Given the description of an element on the screen output the (x, y) to click on. 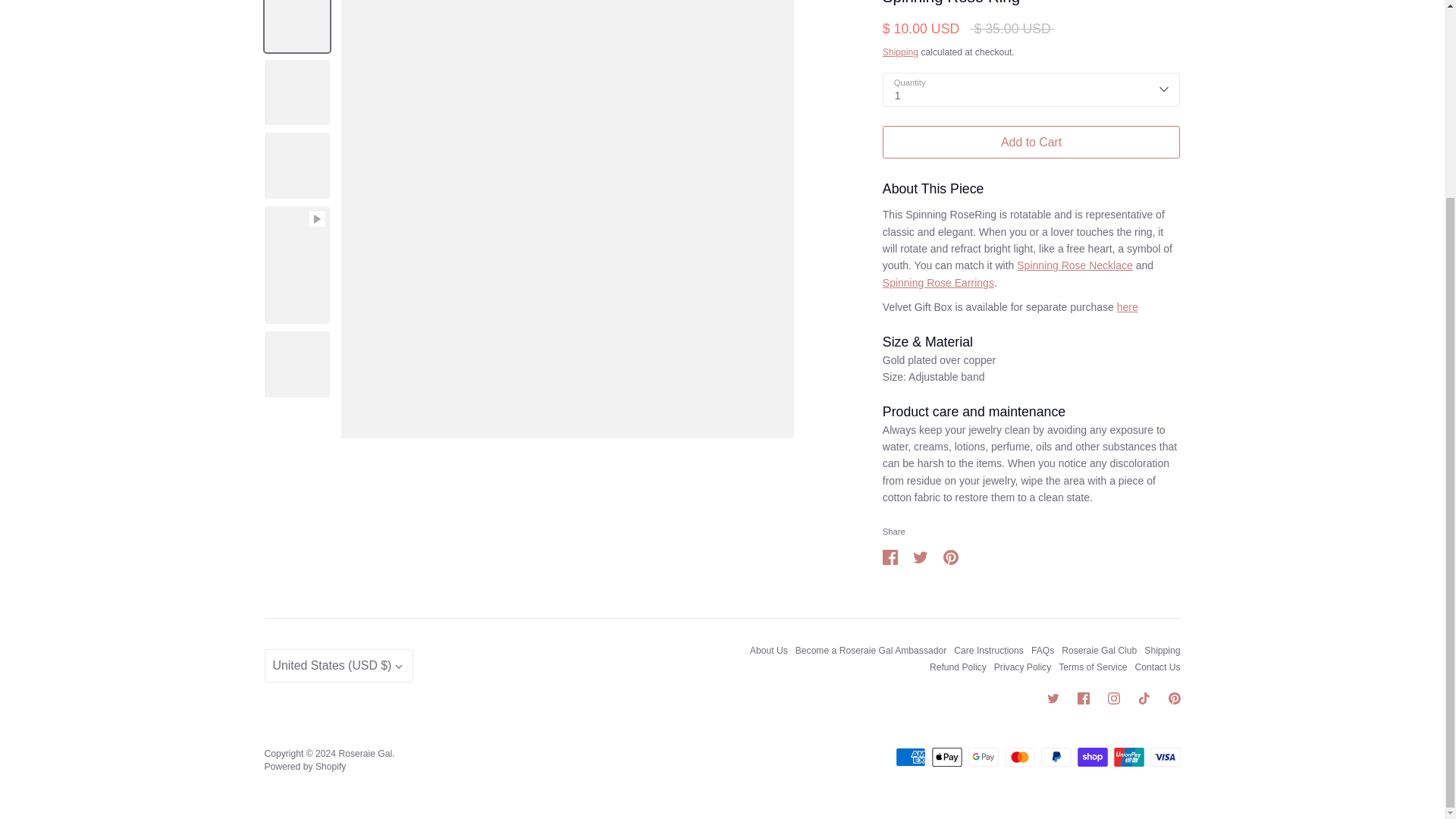
Spinning Rose Earrings (938, 282)
American Express (910, 756)
Velvet Gift Box (1127, 306)
Google Pay (983, 756)
Apple Pay (946, 756)
Spinning Rose Necklace (1074, 265)
Mastercard (1019, 756)
PayPal (1056, 756)
